Given the description of an element on the screen output the (x, y) to click on. 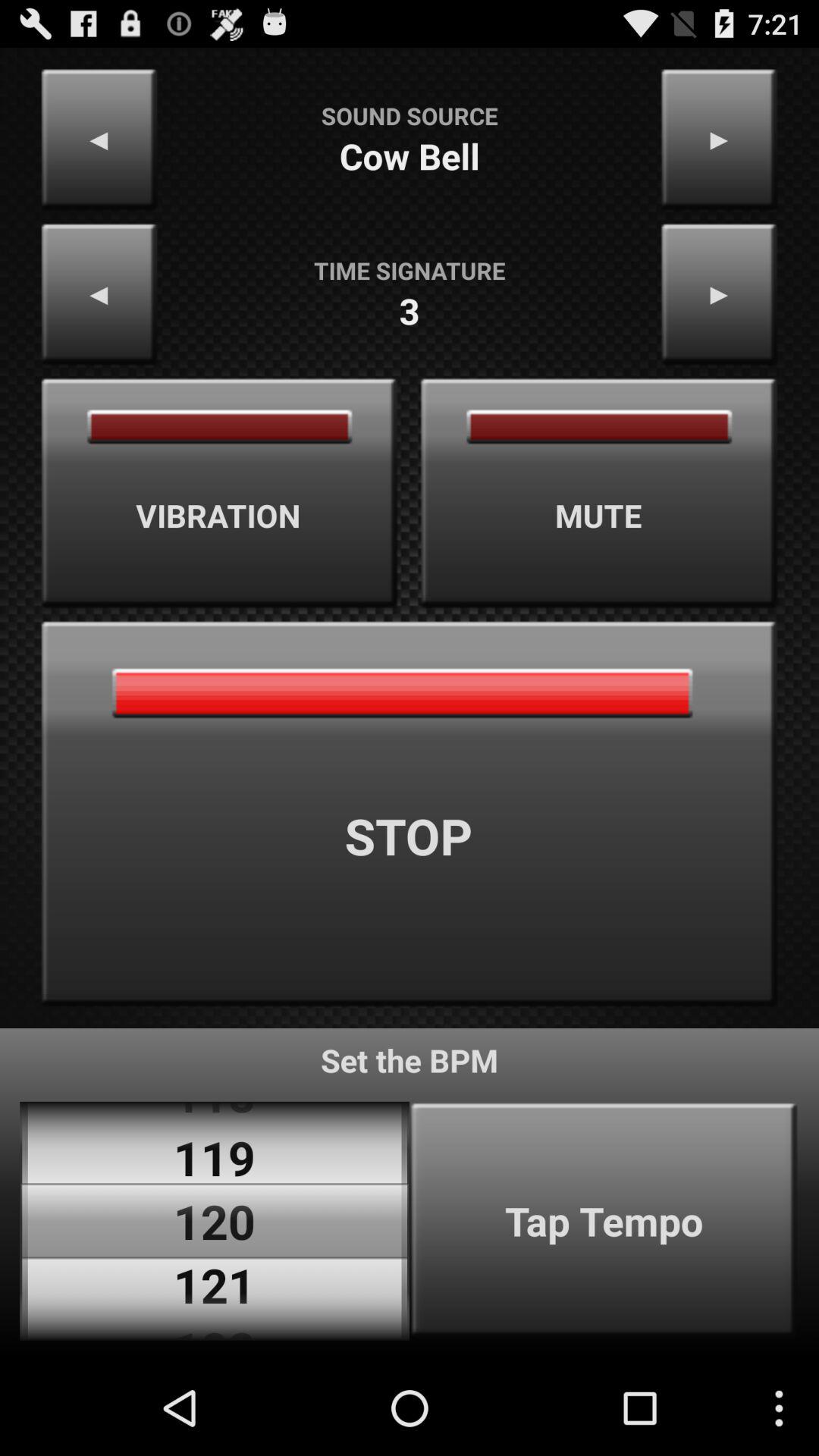
launch icon above stop (219, 493)
